Given the description of an element on the screen output the (x, y) to click on. 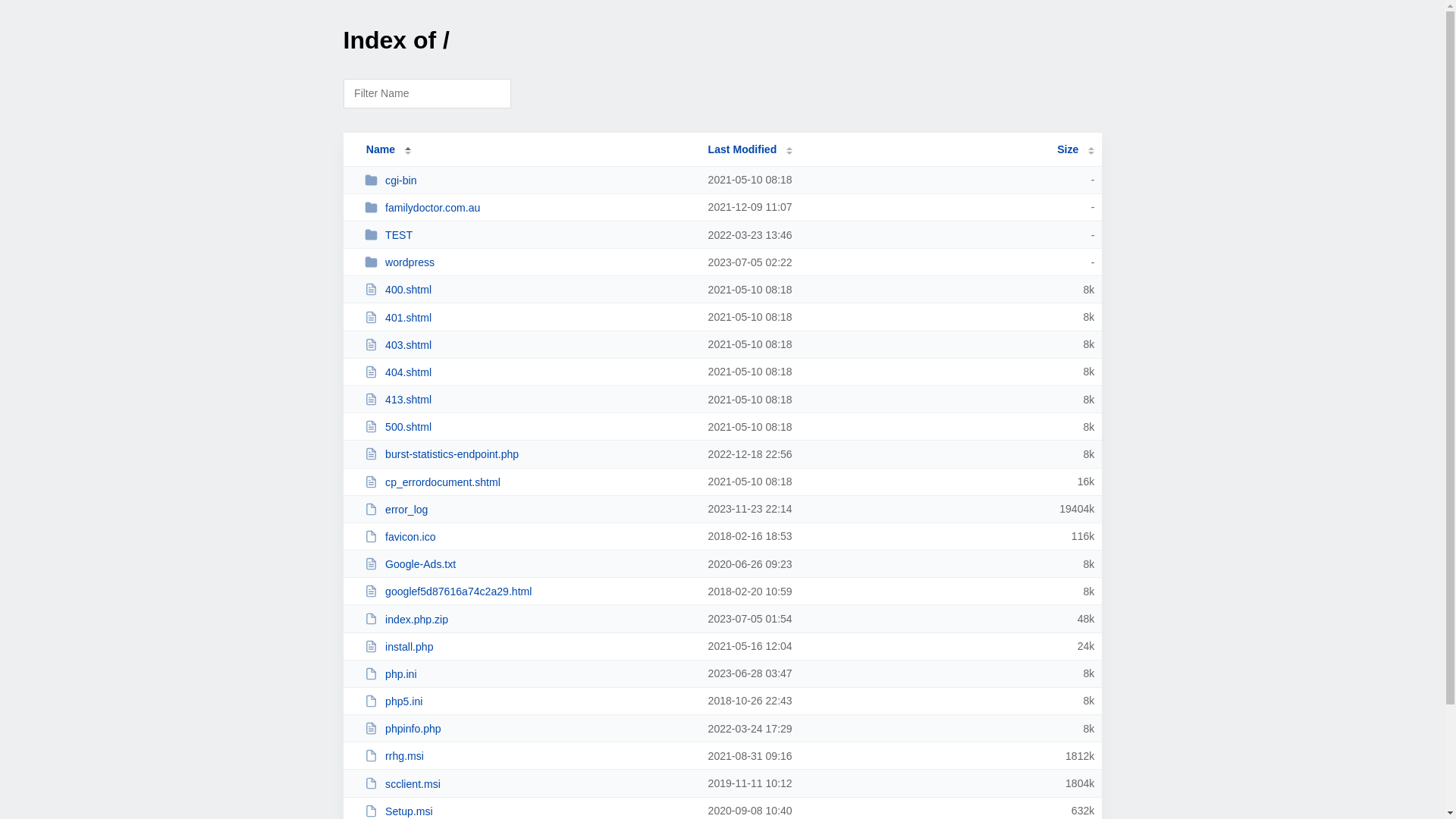
401.shtml Element type: text (529, 316)
familydoctor.com.au Element type: text (529, 206)
Last Modified Element type: text (750, 149)
php5.ini Element type: text (529, 700)
500.shtml Element type: text (529, 426)
404.shtml Element type: text (529, 371)
install.php Element type: text (529, 646)
Size Element type: text (1075, 149)
rrhg.msi Element type: text (529, 755)
phpinfo.php Element type: text (529, 727)
Setup.msi Element type: text (529, 810)
cp_errordocument.shtml Element type: text (529, 481)
413.shtml Element type: text (529, 398)
index.php.zip Element type: text (529, 618)
Name Element type: text (380, 149)
400.shtml Element type: text (529, 288)
TEST Element type: text (529, 234)
burst-statistics-endpoint.php Element type: text (529, 453)
scclient.msi Element type: text (529, 783)
403.shtml Element type: text (529, 344)
googlef5d87616a74c2a29.html Element type: text (529, 590)
favicon.ico Element type: text (529, 536)
cgi-bin Element type: text (529, 179)
Google-Ads.txt Element type: text (529, 563)
wordpress Element type: text (529, 261)
php.ini Element type: text (529, 673)
error_log Element type: text (529, 508)
